Given the description of an element on the screen output the (x, y) to click on. 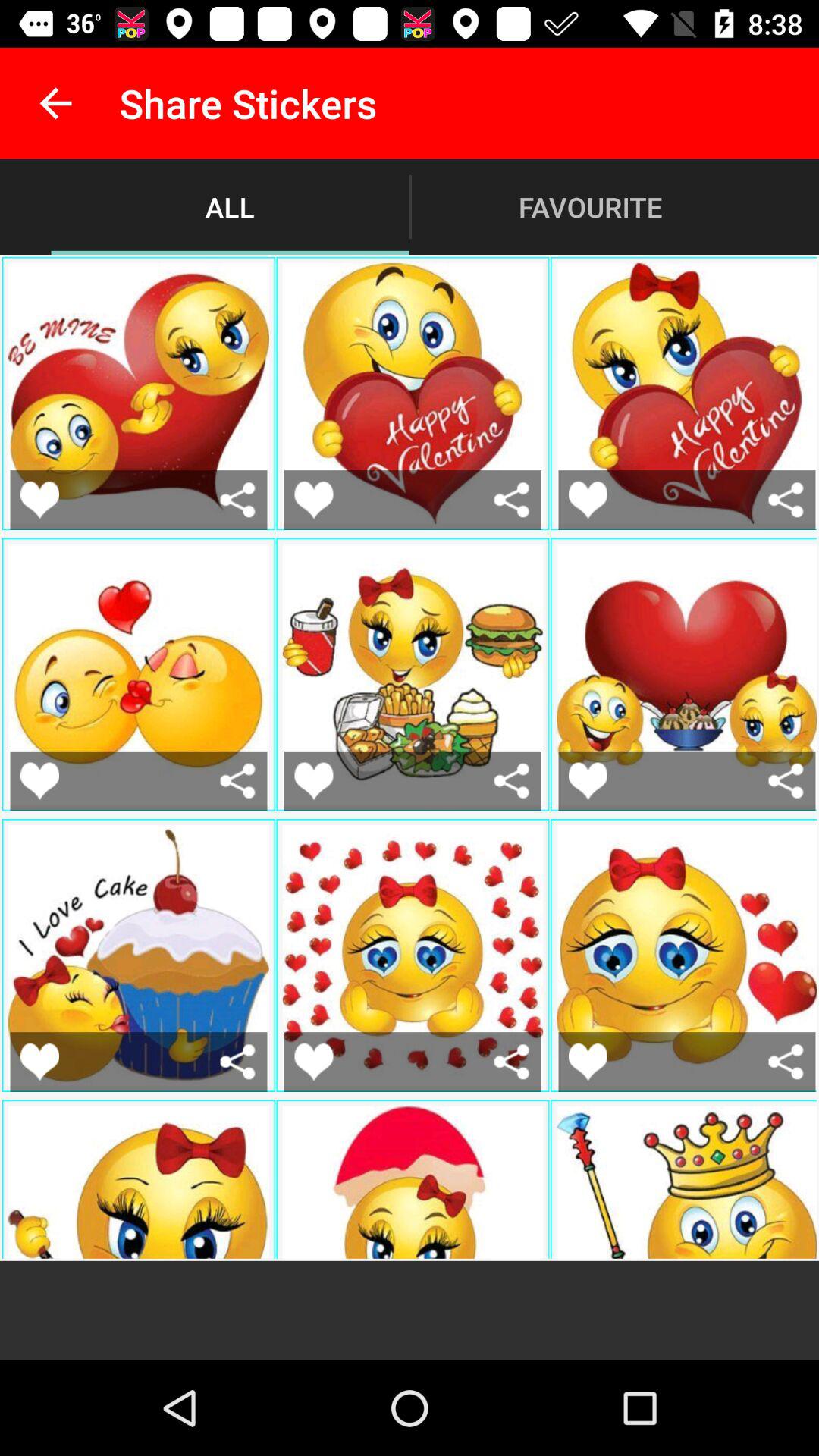
share emoji (237, 499)
